Given the description of an element on the screen output the (x, y) to click on. 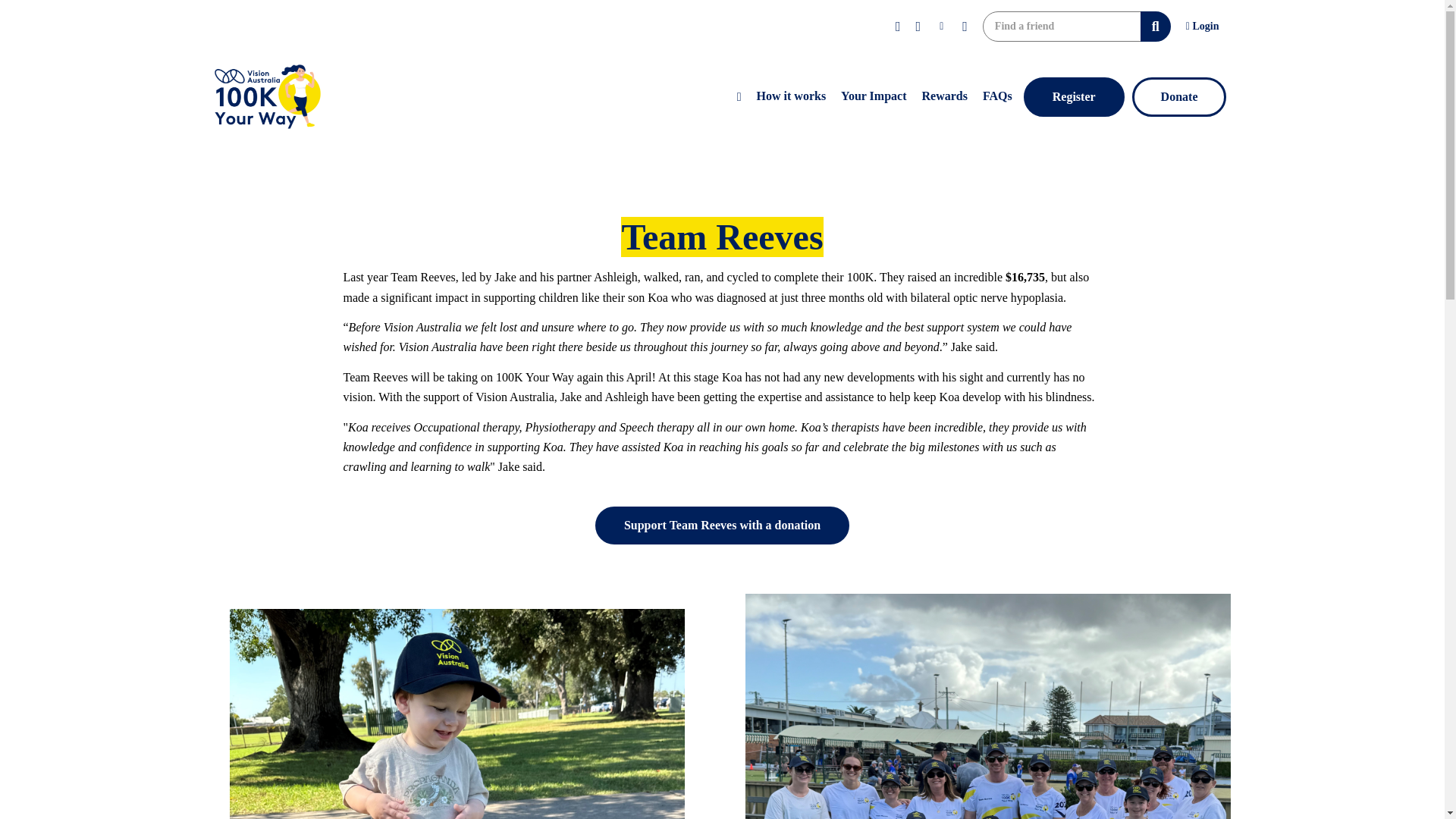
Your Impact (873, 96)
FAQs (997, 96)
Image of Vision Australia client Koa walking and smiling. (456, 714)
How it works (791, 96)
Login (1202, 26)
Support Team Reeves with a donation (721, 525)
Donate (1179, 96)
Rewards (944, 96)
Register (1073, 96)
